Given the description of an element on the screen output the (x, y) to click on. 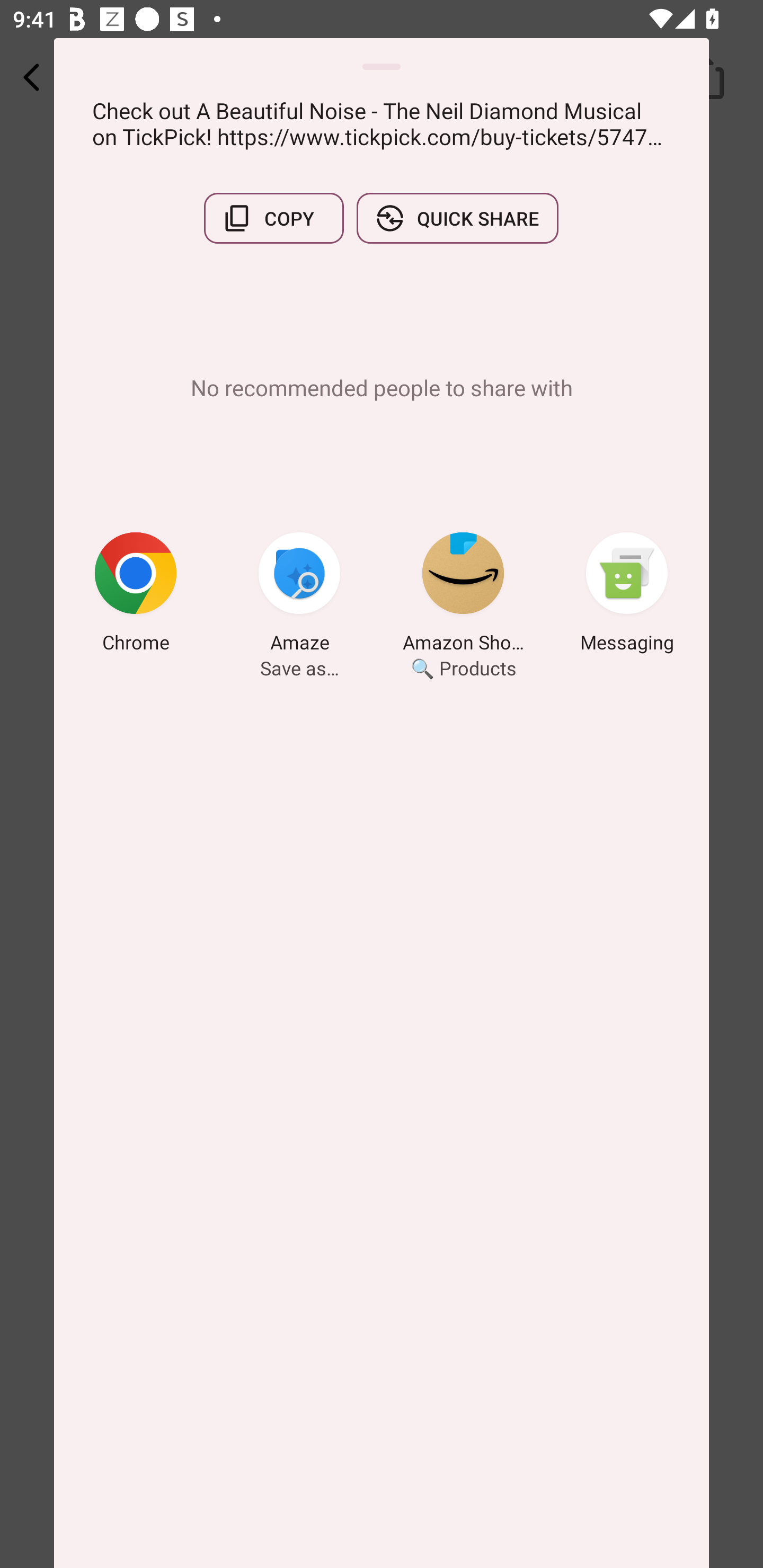
COPY (273, 218)
QUICK SHARE (457, 218)
Chrome (135, 594)
Amaze Save as… (299, 594)
Amazon Shopping 🔍 Products (463, 594)
Messaging (626, 594)
